Given the description of an element on the screen output the (x, y) to click on. 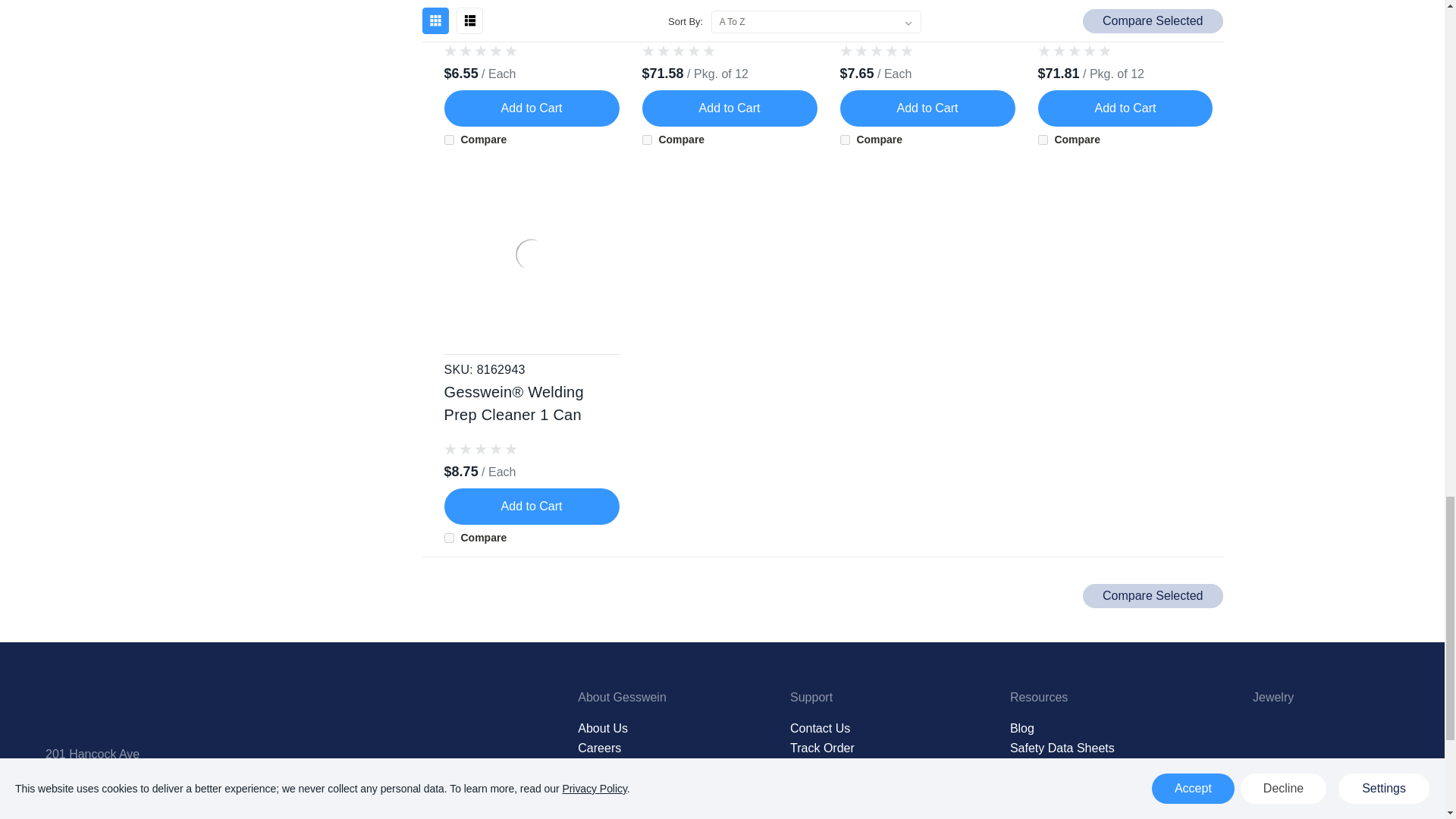
9595 (647, 139)
9588 (449, 537)
9589 (1041, 139)
9594 (845, 139)
9592 (449, 139)
